Given the description of an element on the screen output the (x, y) to click on. 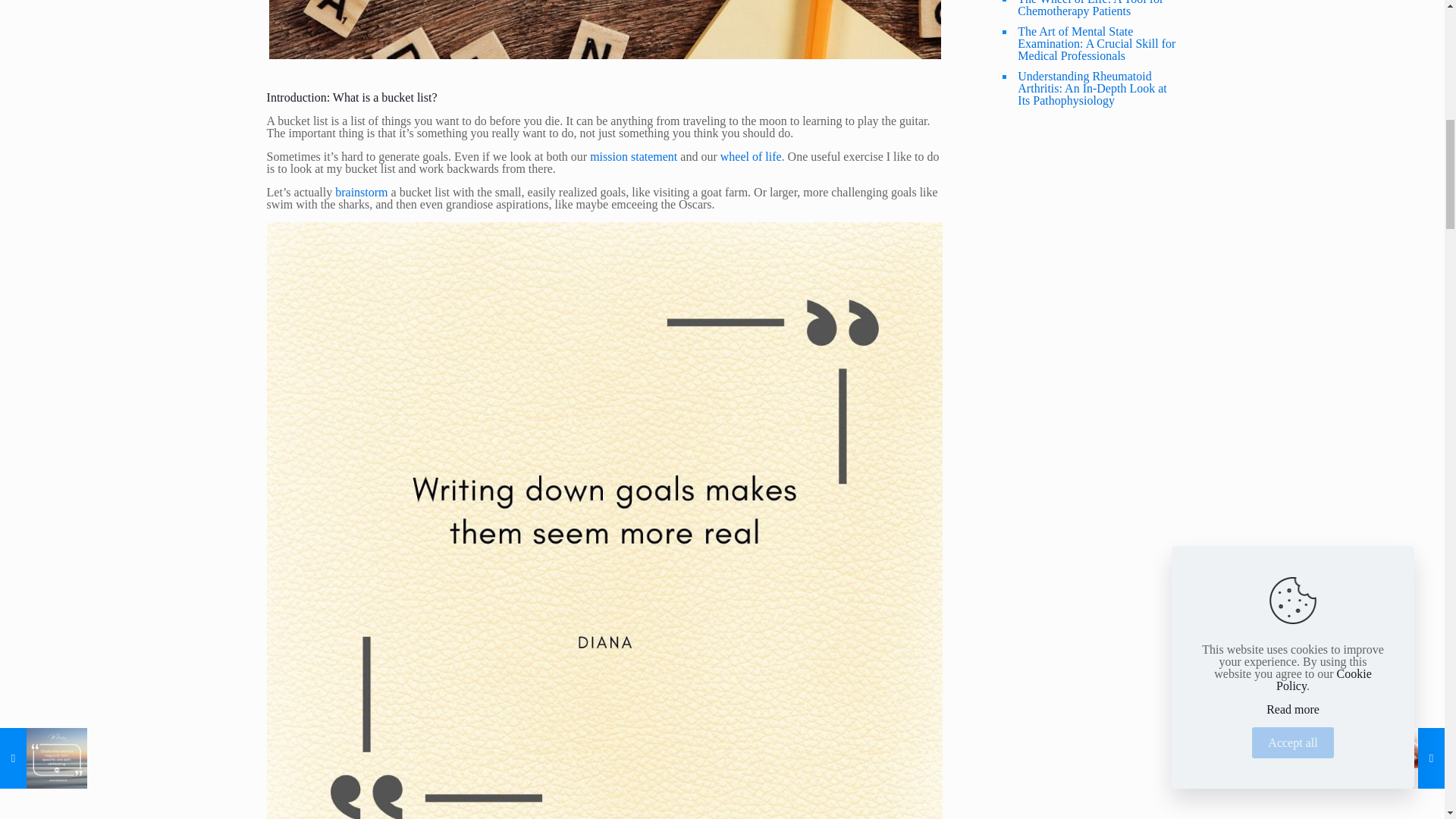
wheel of life (750, 155)
brainstorm (360, 192)
mission statement (633, 155)
